Given the description of an element on the screen output the (x, y) to click on. 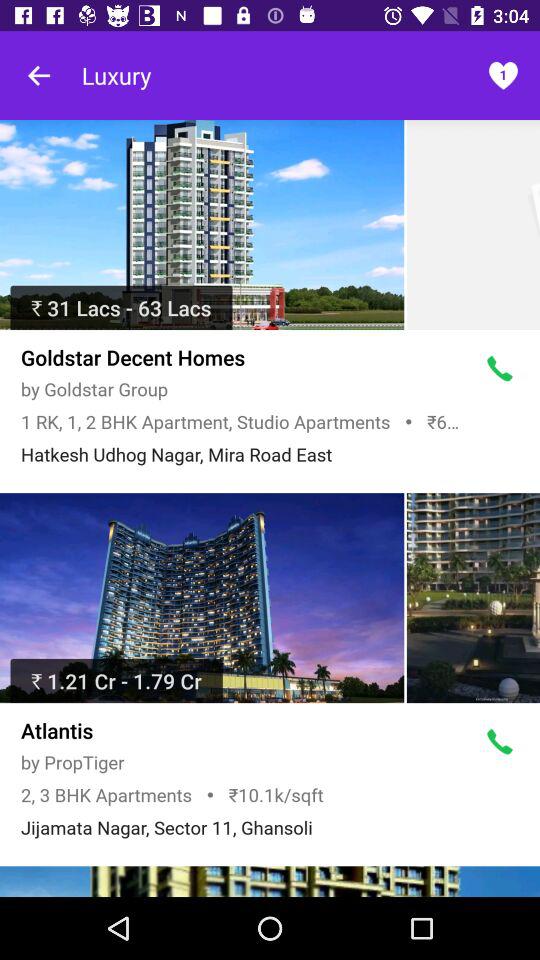
view photo (473, 598)
